Given the description of an element on the screen output the (x, y) to click on. 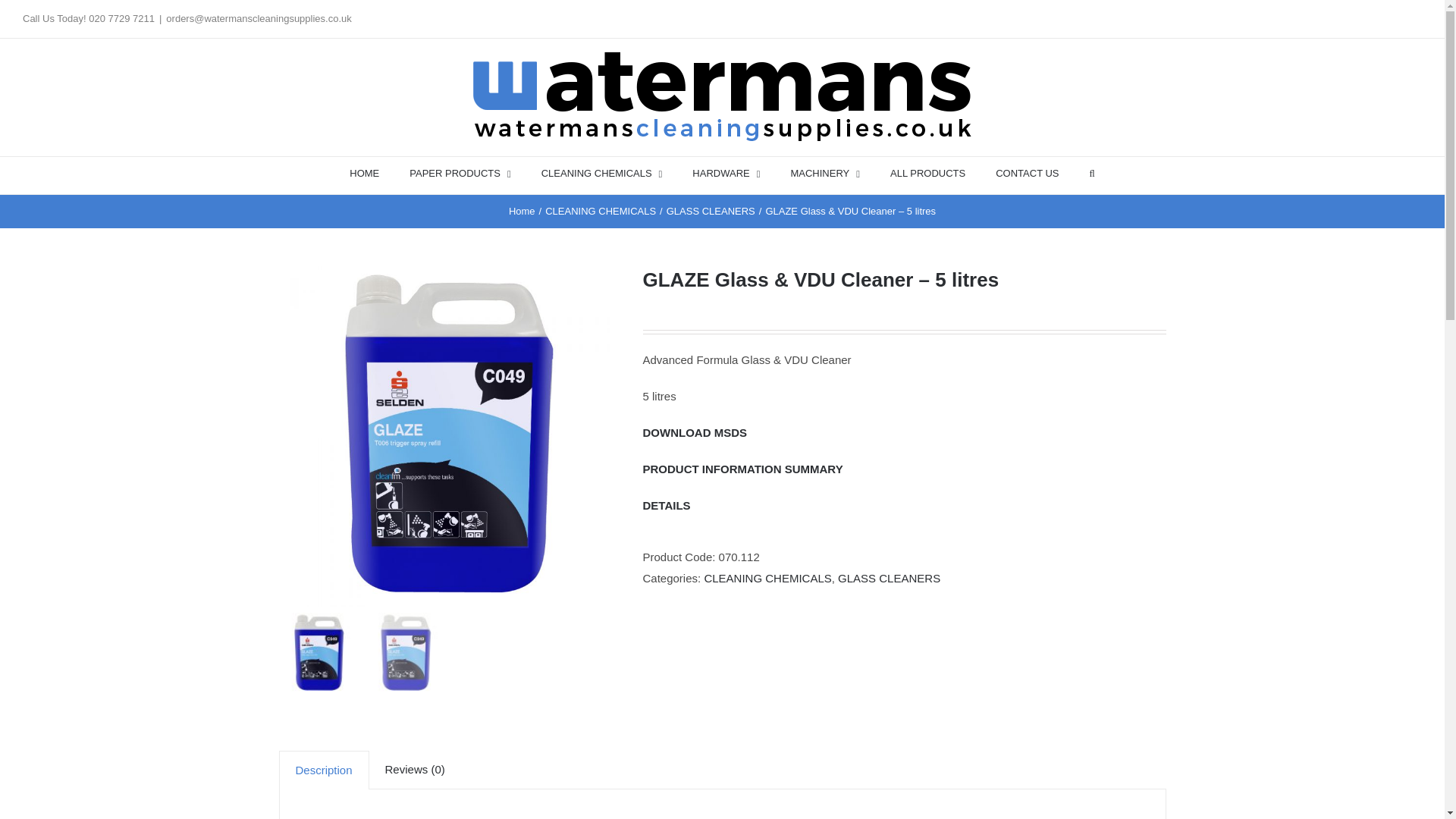
ZC49 (449, 436)
CLEANING CHEMICALS (601, 172)
HARDWARE (726, 172)
PAPER PRODUCTS (460, 172)
HOME (363, 172)
